Given the description of an element on the screen output the (x, y) to click on. 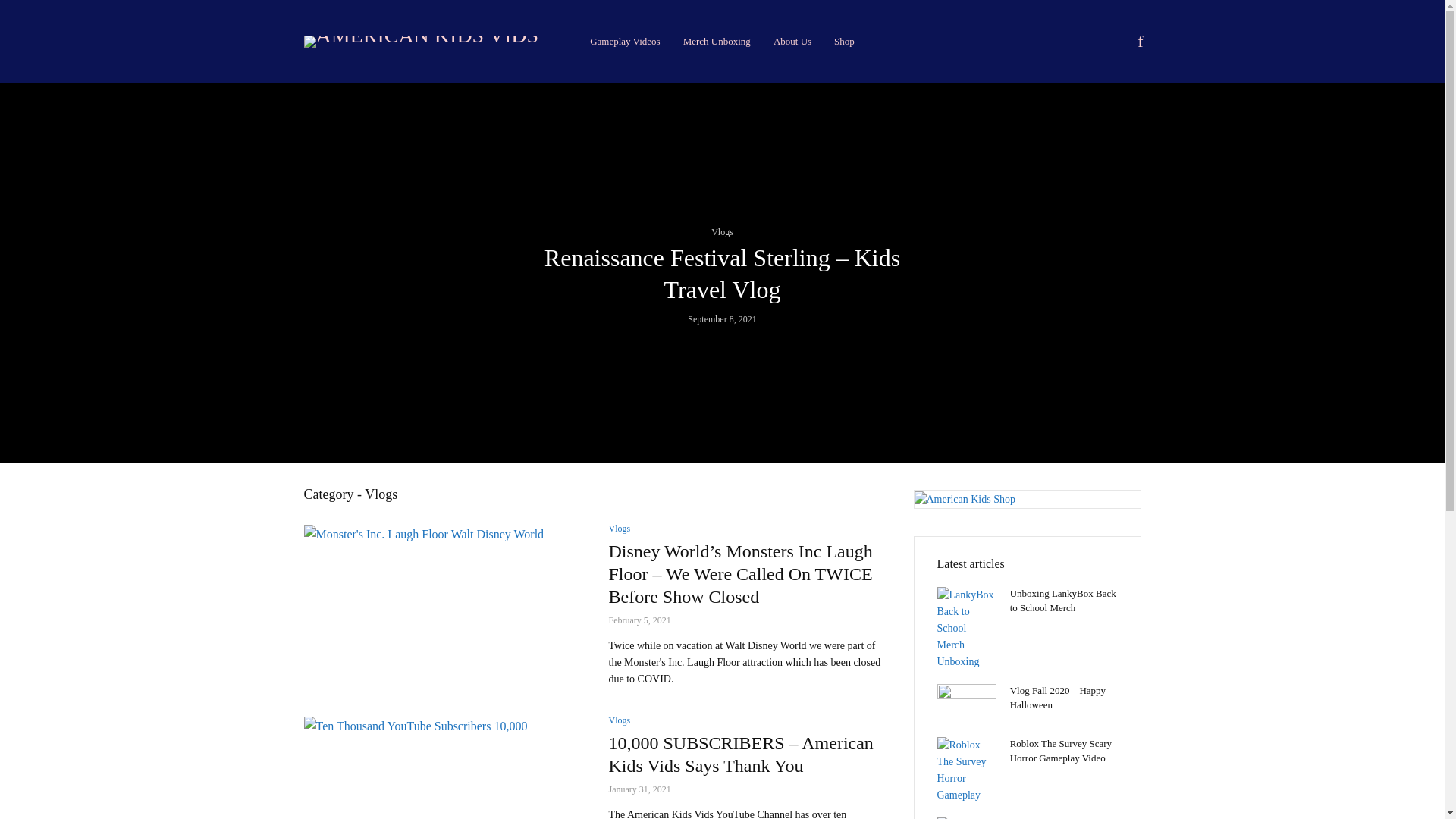
Roblox Teddy Scary Horror Gameplay (966, 818)
Shop (844, 41)
Gameplay Videos (624, 41)
Merch Unboxing (716, 41)
About Us (791, 41)
